Given the description of an element on the screen output the (x, y) to click on. 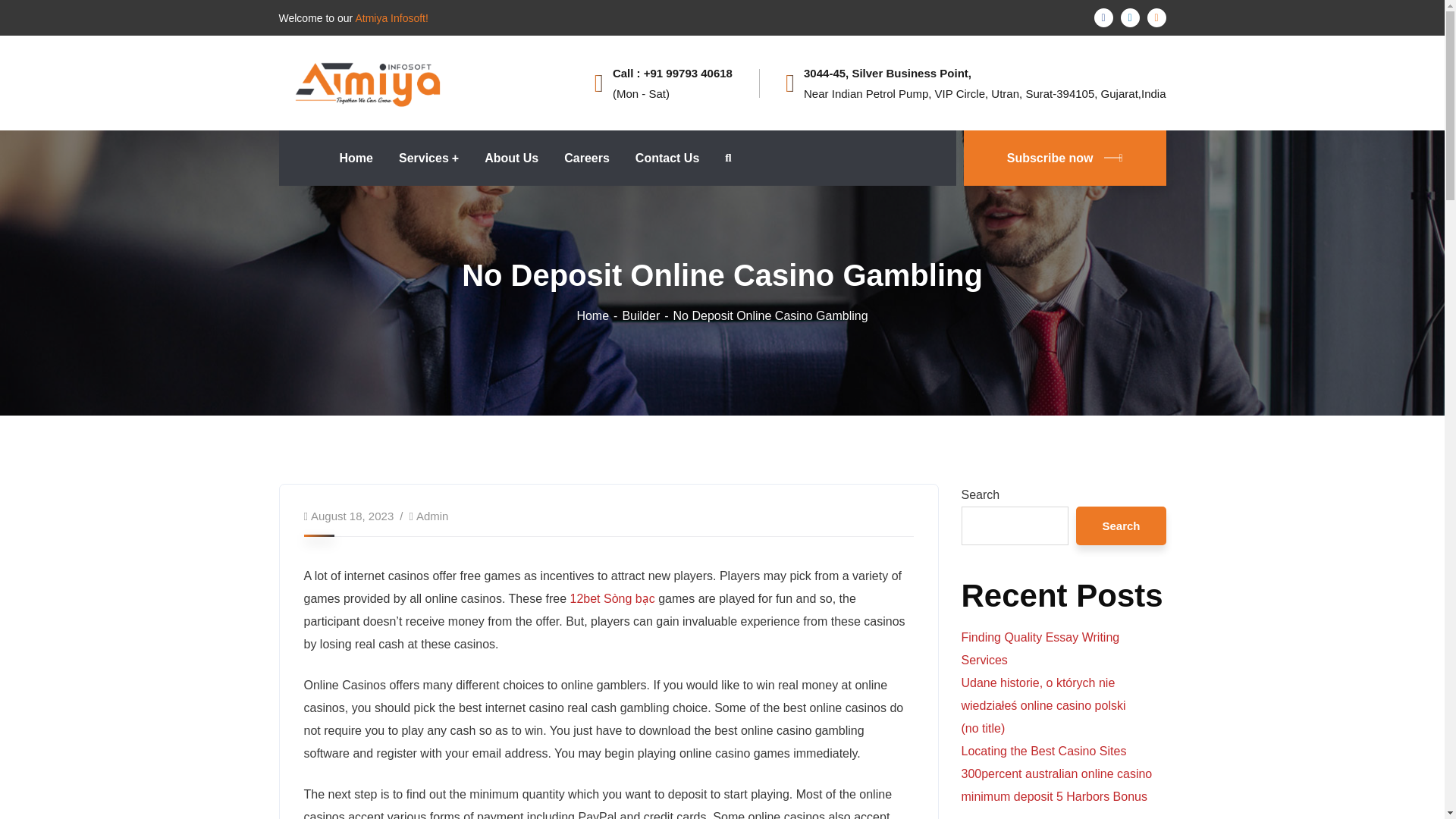
Atmiya Infosoft (368, 82)
Posts by admin (432, 515)
Services (428, 157)
